Given the description of an element on the screen output the (x, y) to click on. 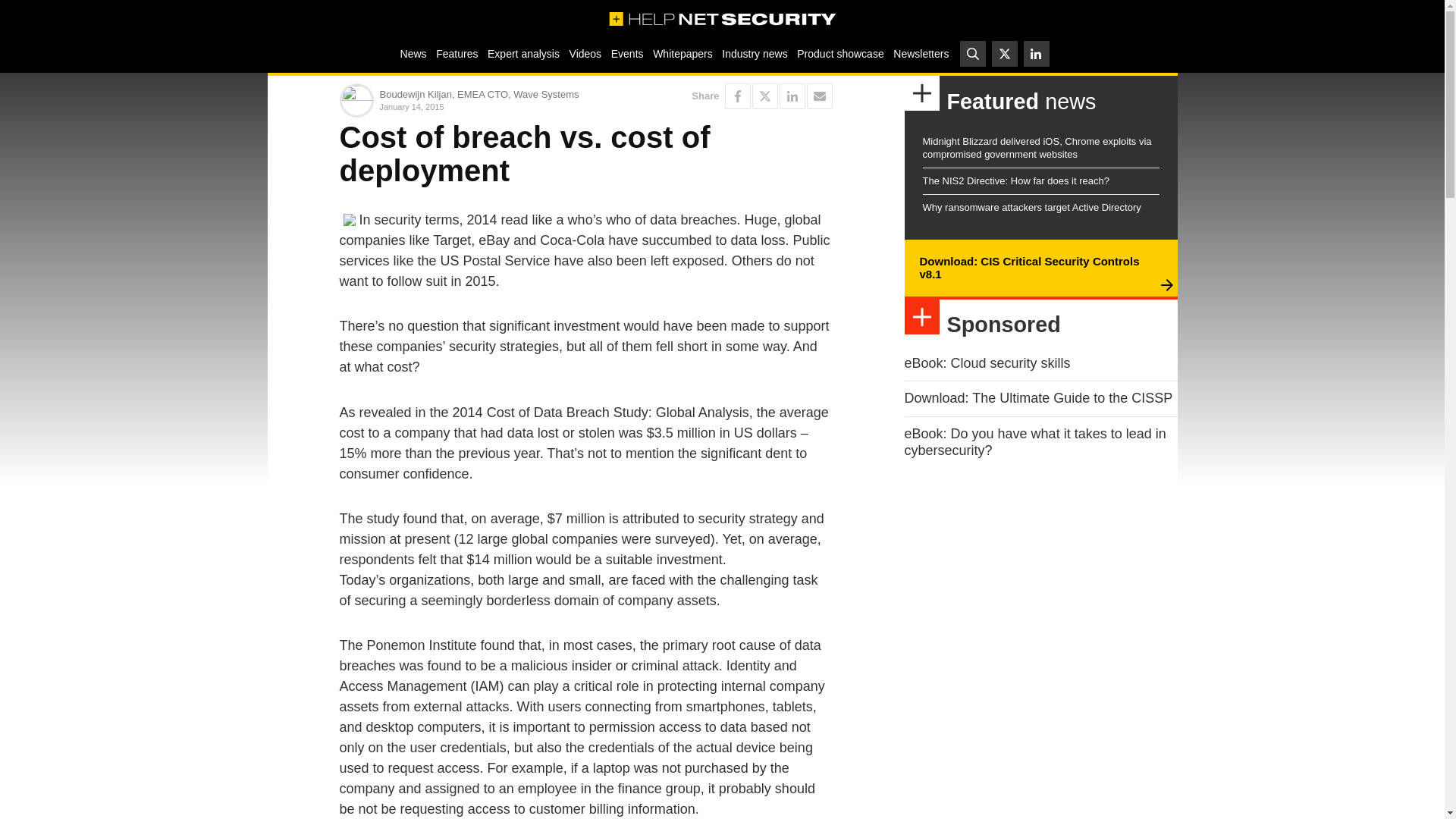
Product showcase (840, 53)
Whitepapers (682, 53)
Newsletters (920, 53)
Download: The Ultimate Guide to the CISSP (1038, 397)
Share Cost of breach vs. cost of deployment on Facebook (738, 95)
The NIS2 Directive: How far does it reach? (1014, 180)
Expert analysis (523, 53)
eBook: Cloud security skills (987, 363)
Videos (584, 53)
